Given the description of an element on the screen output the (x, y) to click on. 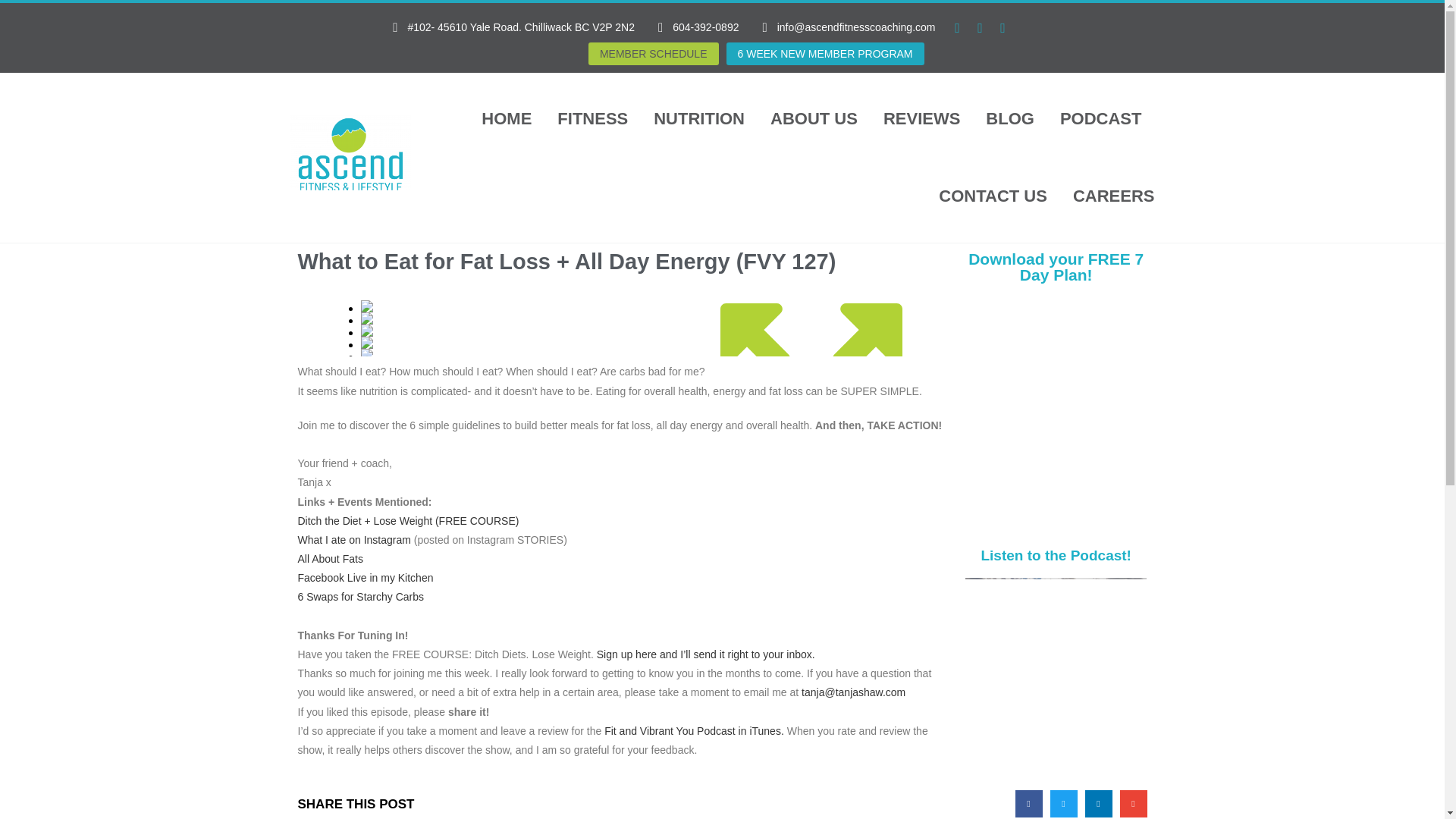
ABOUT US (813, 119)
CONTACT US (992, 196)
604-392-0892 (692, 27)
FITNESS (592, 119)
Facebook Live in my Kitchen (364, 577)
CAREERS (1113, 196)
6 WEEK NEW MEMBER PROGRAM (825, 53)
All About Fats (329, 558)
6 Swaps for Starchy Carbs (360, 596)
What I ate on Instagram (353, 539)
